Given the description of an element on the screen output the (x, y) to click on. 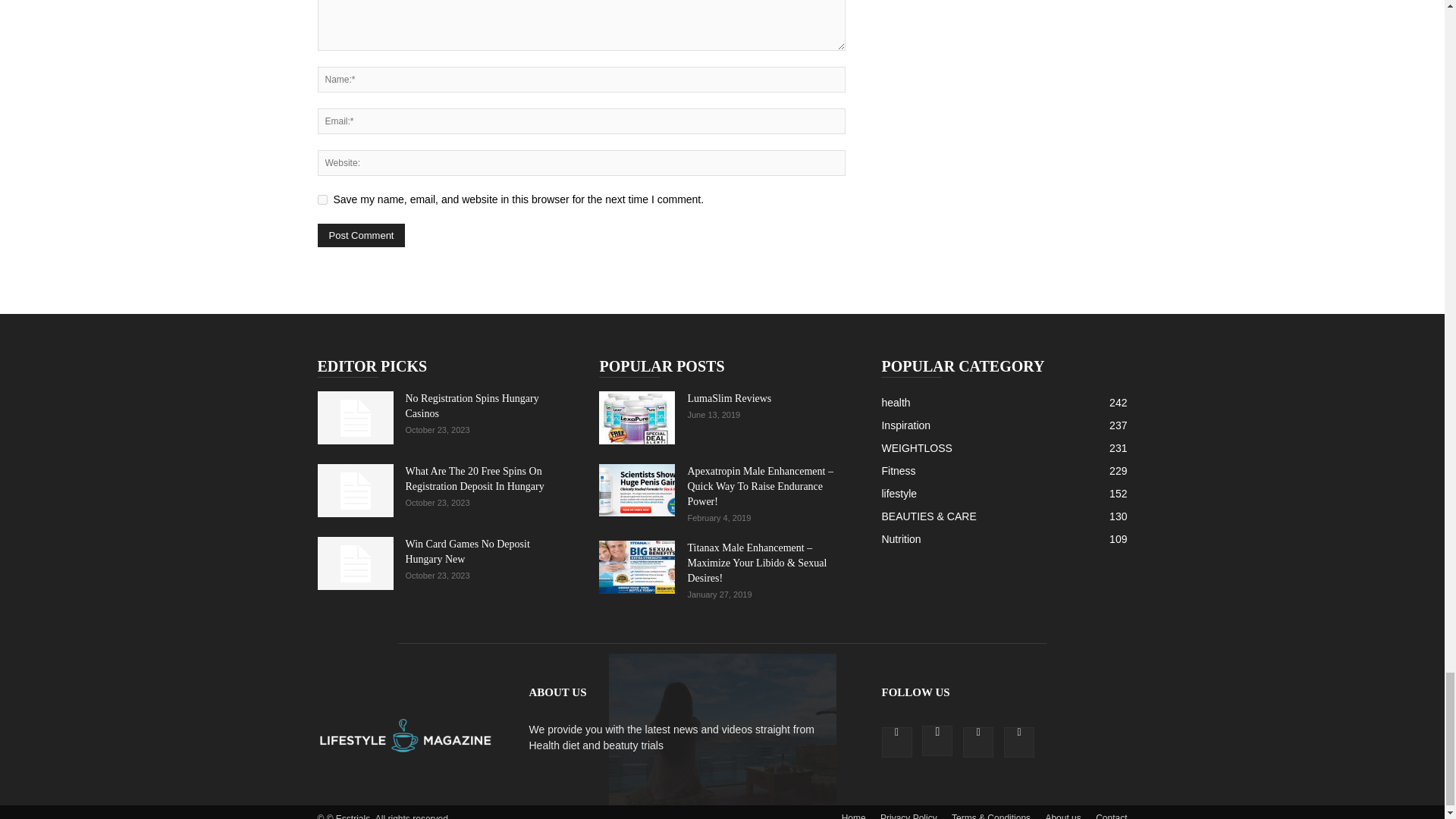
Post Comment (360, 235)
yes (321, 199)
